Given the description of an element on the screen output the (x, y) to click on. 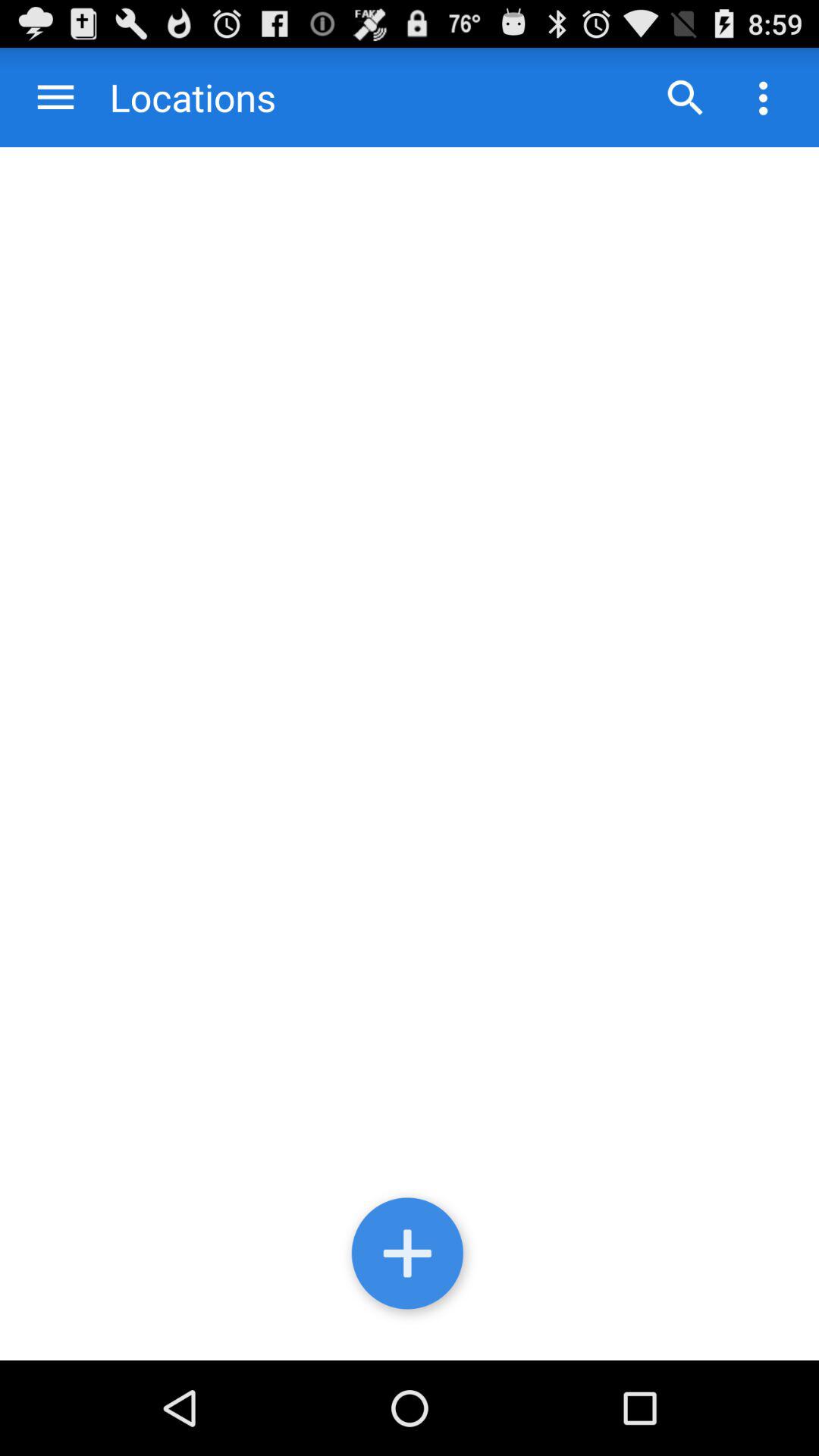
turn on the item to the left of locations app (55, 97)
